Given the description of an element on the screen output the (x, y) to click on. 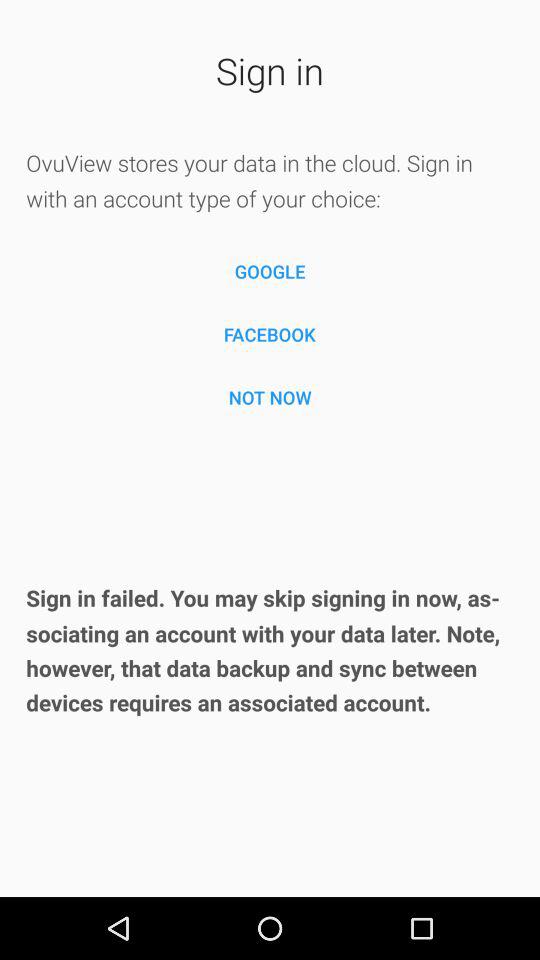
flip to the google (269, 271)
